Given the description of an element on the screen output the (x, y) to click on. 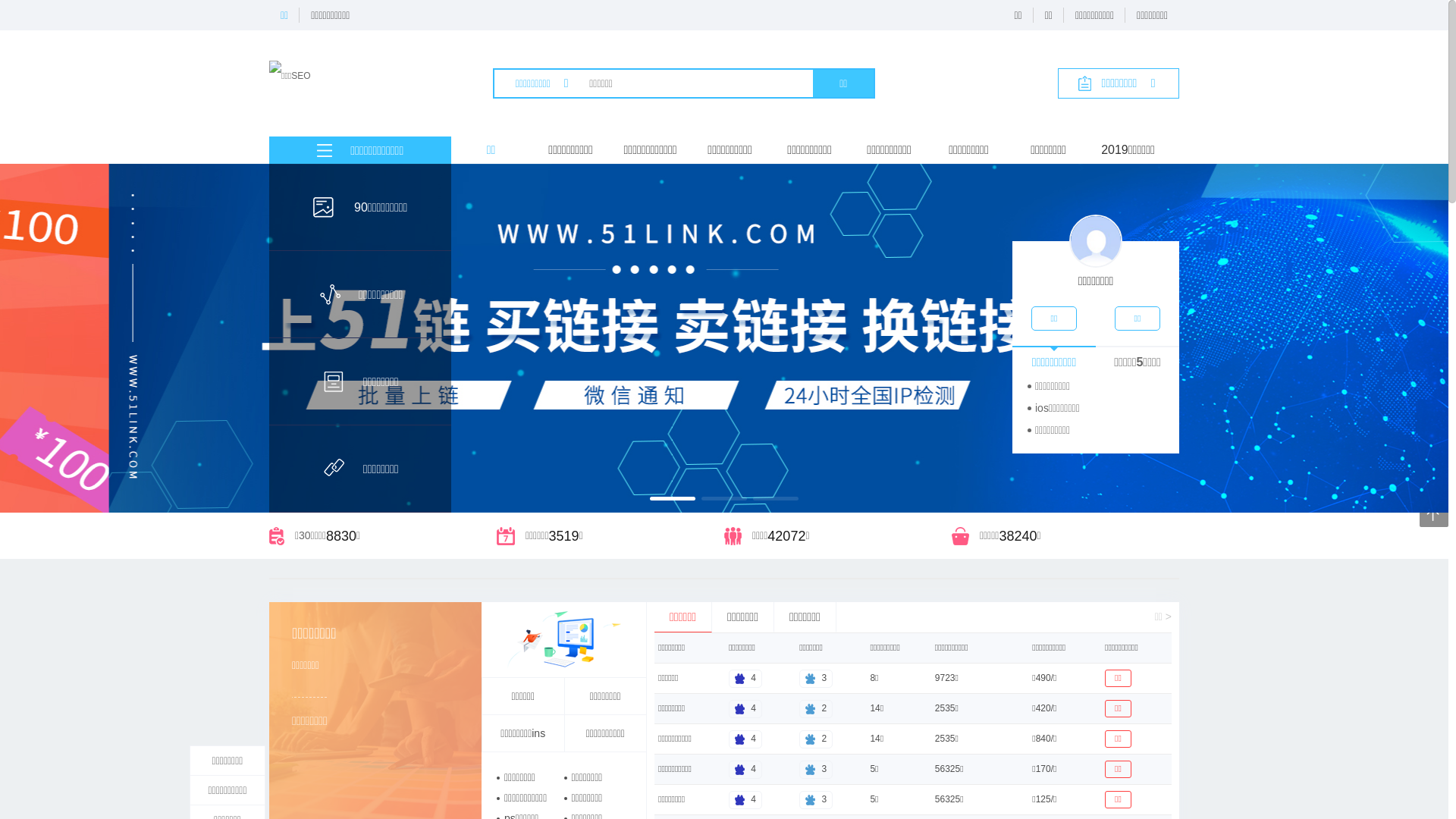
4 Element type: text (745, 768)
4 Element type: text (745, 738)
4 Element type: text (745, 798)
3 Element type: text (815, 677)
3 Element type: text (815, 768)
4 Element type: text (745, 707)
4 Element type: text (745, 677)
2 Element type: text (815, 707)
2 Element type: text (815, 738)
3 Element type: text (815, 798)
